Given the description of an element on the screen output the (x, y) to click on. 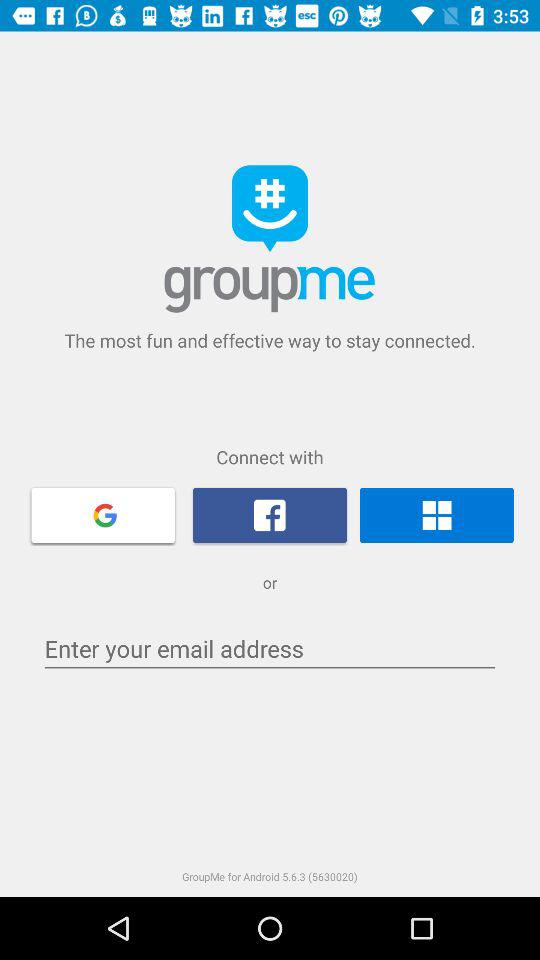
google account (103, 513)
